Given the description of an element on the screen output the (x, y) to click on. 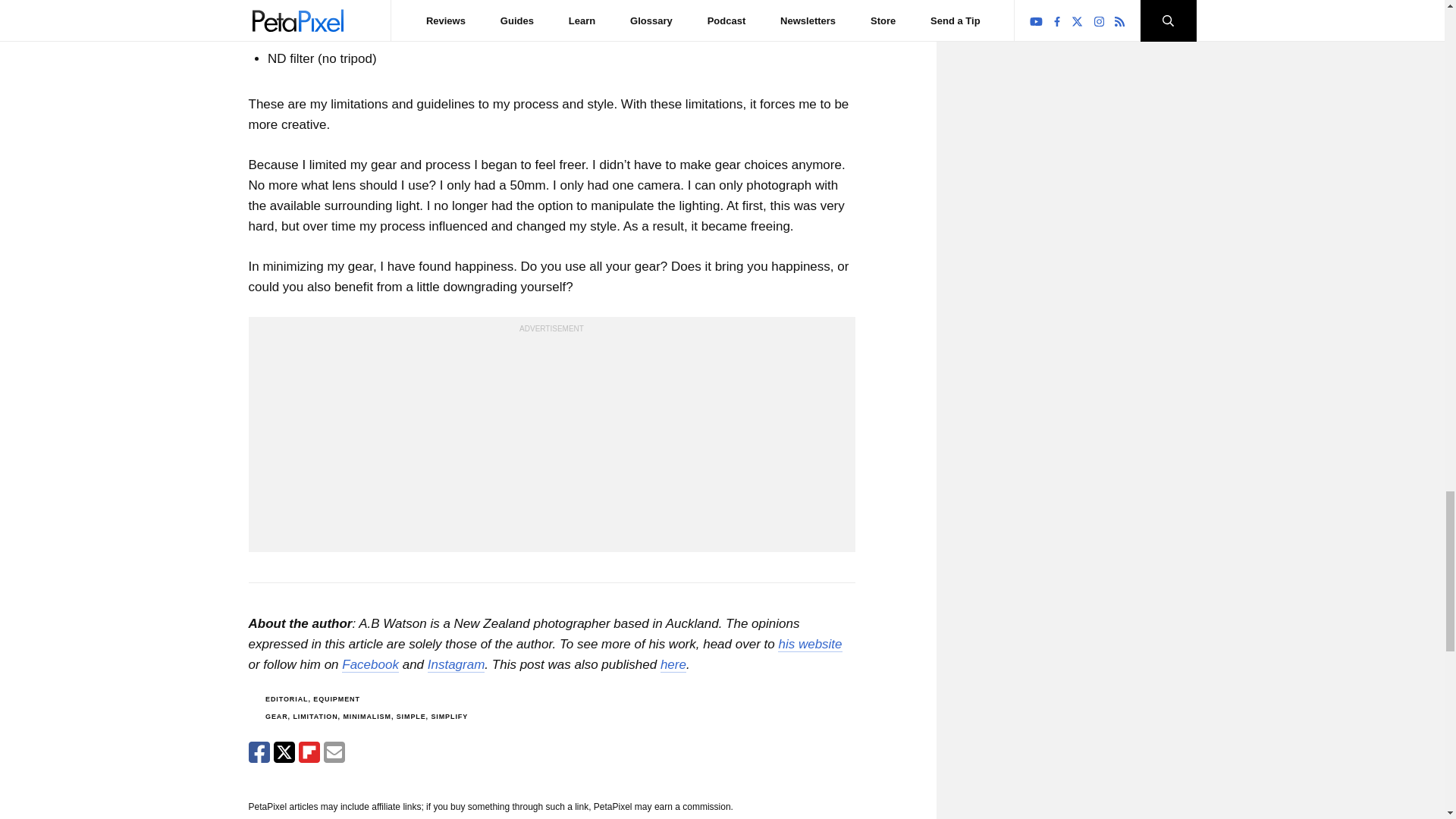
Share on X (283, 752)
Share on Flipboard (309, 752)
MINIMALISM (366, 716)
Share on facebook (258, 752)
his website (809, 644)
here (673, 664)
EQUIPMENT (336, 698)
Instagram (456, 664)
EDITORIAL (285, 698)
LIMITATION (314, 716)
Facebook (370, 664)
SIMPLE (411, 716)
GEAR (276, 716)
Email this article (333, 752)
SIMPLIFY (448, 716)
